Given the description of an element on the screen output the (x, y) to click on. 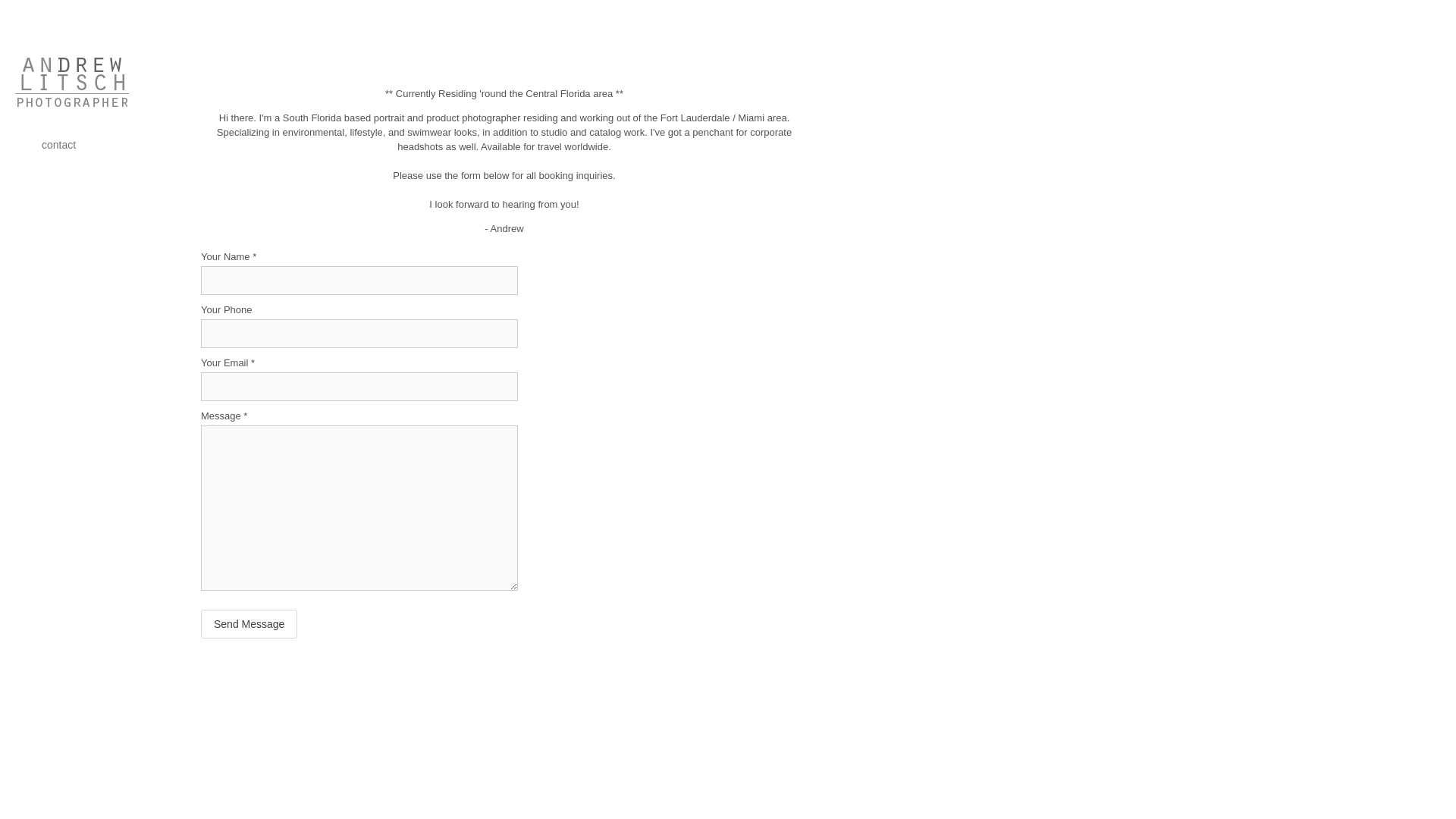
Send Message (248, 623)
contact (58, 144)
contact (58, 144)
Send Message (248, 623)
